Given the description of an element on the screen output the (x, y) to click on. 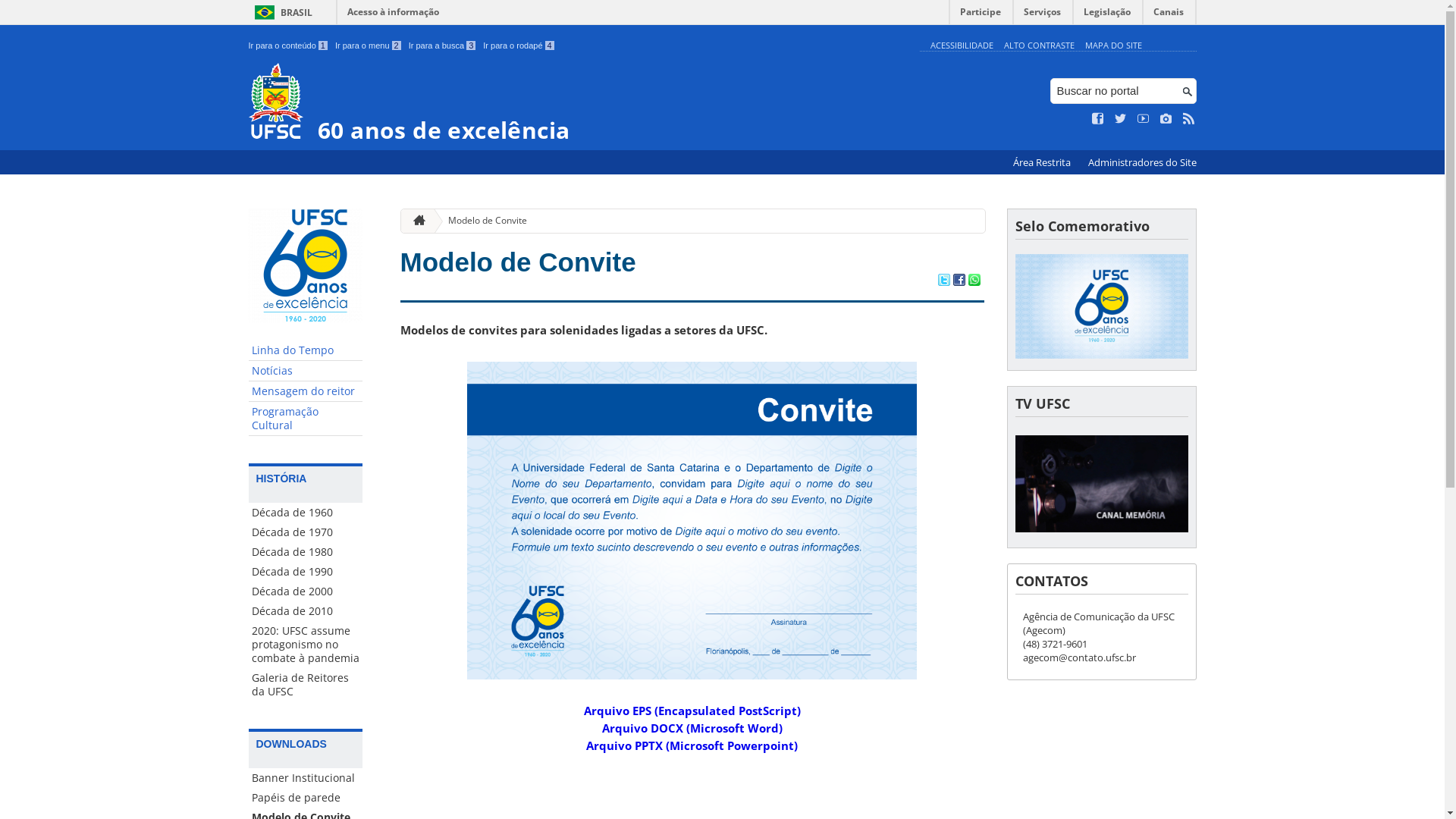
MAPA DO SITE Element type: text (1112, 44)
Ir para a busca 3 Element type: text (442, 45)
Curta no Facebook Element type: hover (1098, 118)
Arquivo EPS (Encapsulated PostScript) Element type: text (691, 710)
Compartilhar no Twitter Element type: hover (943, 280)
Arquivo DOCX (Microsoft Word) Element type: text (692, 727)
Modelo de Convite Element type: text (481, 220)
Modelo de Convite Element type: text (518, 261)
Ir para o menu 2 Element type: text (368, 45)
Banner Institucional Element type: text (305, 777)
Veja no Instagram Element type: hover (1166, 118)
ACESSIBILIDADE Element type: text (960, 44)
ALTO CONTRASTE Element type: text (1039, 44)
Canais Element type: text (1169, 15)
Galeria de Reitores da UFSC Element type: text (305, 684)
Linha do Tempo Element type: text (305, 350)
Administradores do Site Element type: text (1141, 162)
Compartilhar no Facebook Element type: hover (958, 280)
Siga no Twitter Element type: hover (1120, 118)
Participe Element type: text (980, 15)
Arquivo PPTX (Microsoft Powerpoint) Element type: text (691, 745)
Mensagem do reitor Element type: text (305, 391)
Compartilhar no WhatsApp Element type: hover (973, 280)
BRASIL Element type: text (280, 12)
